Given the description of an element on the screen output the (x, y) to click on. 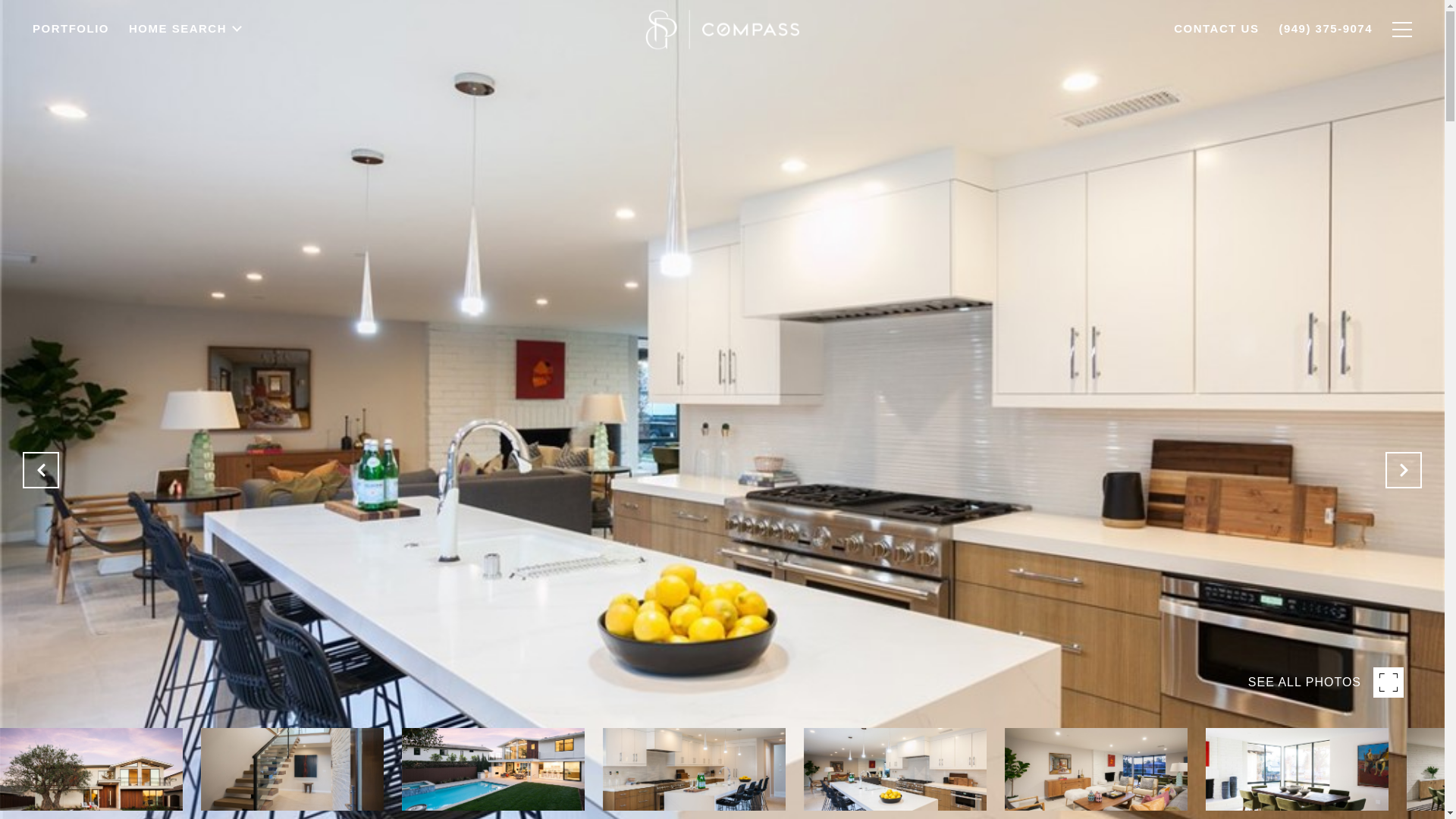
CONTACT US (1215, 50)
HOME SEARCH (186, 71)
PORTFOLIO (71, 72)
